Given the description of an element on the screen output the (x, y) to click on. 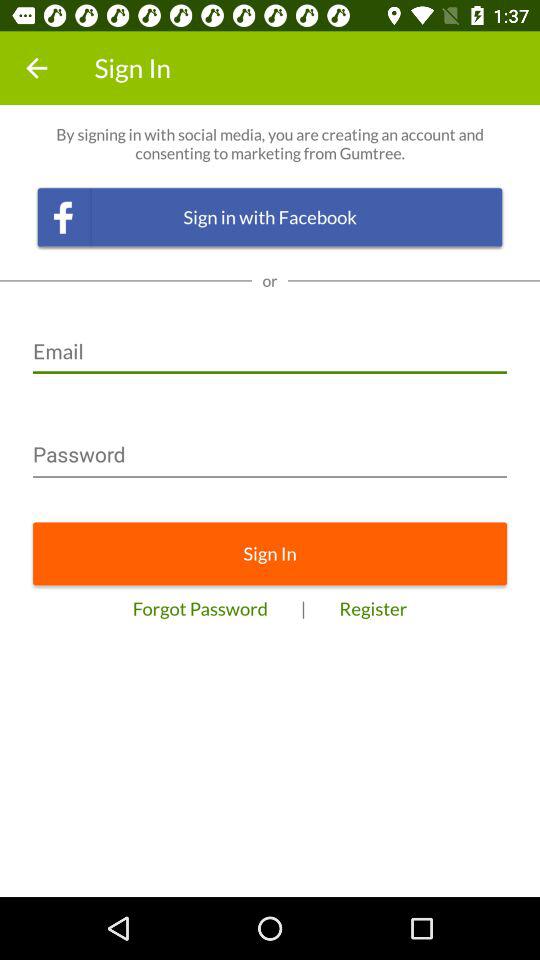
press the forgot password (199, 608)
